Given the description of an element on the screen output the (x, y) to click on. 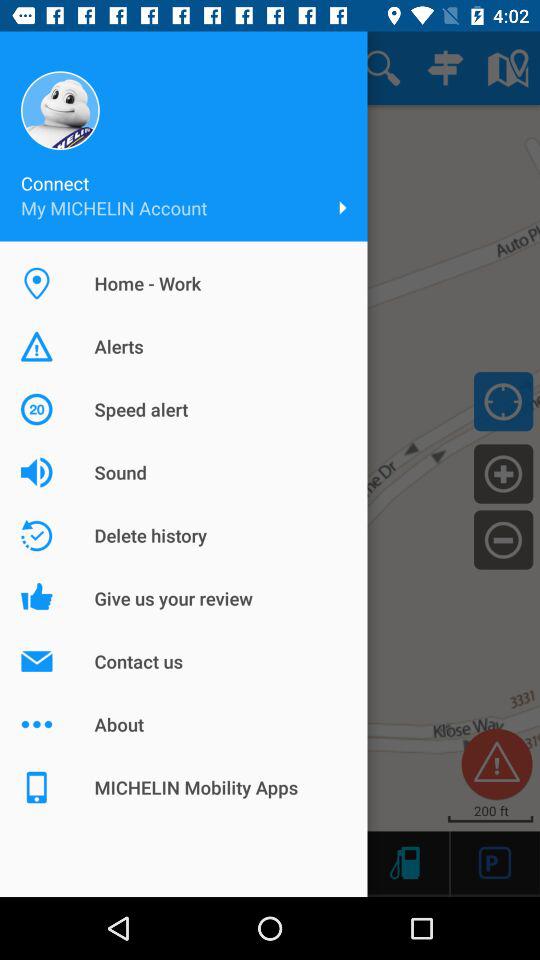
telephone (404, 862)
